Given the description of an element on the screen output the (x, y) to click on. 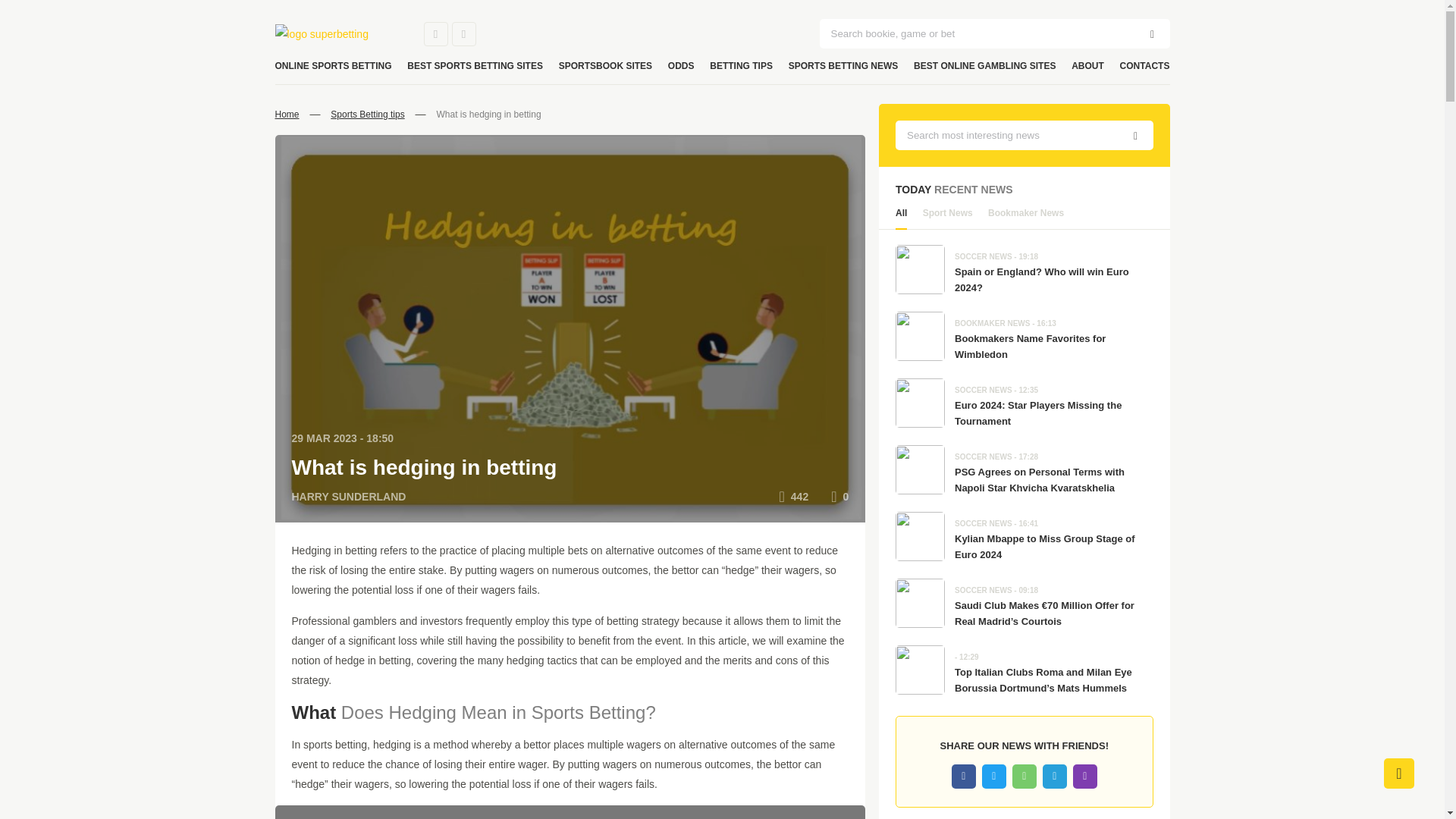
BEST SPORTS BETTING SITES (475, 66)
Superbetting (337, 34)
ONLINE SPORTS BETTING (333, 66)
